Given the description of an element on the screen output the (x, y) to click on. 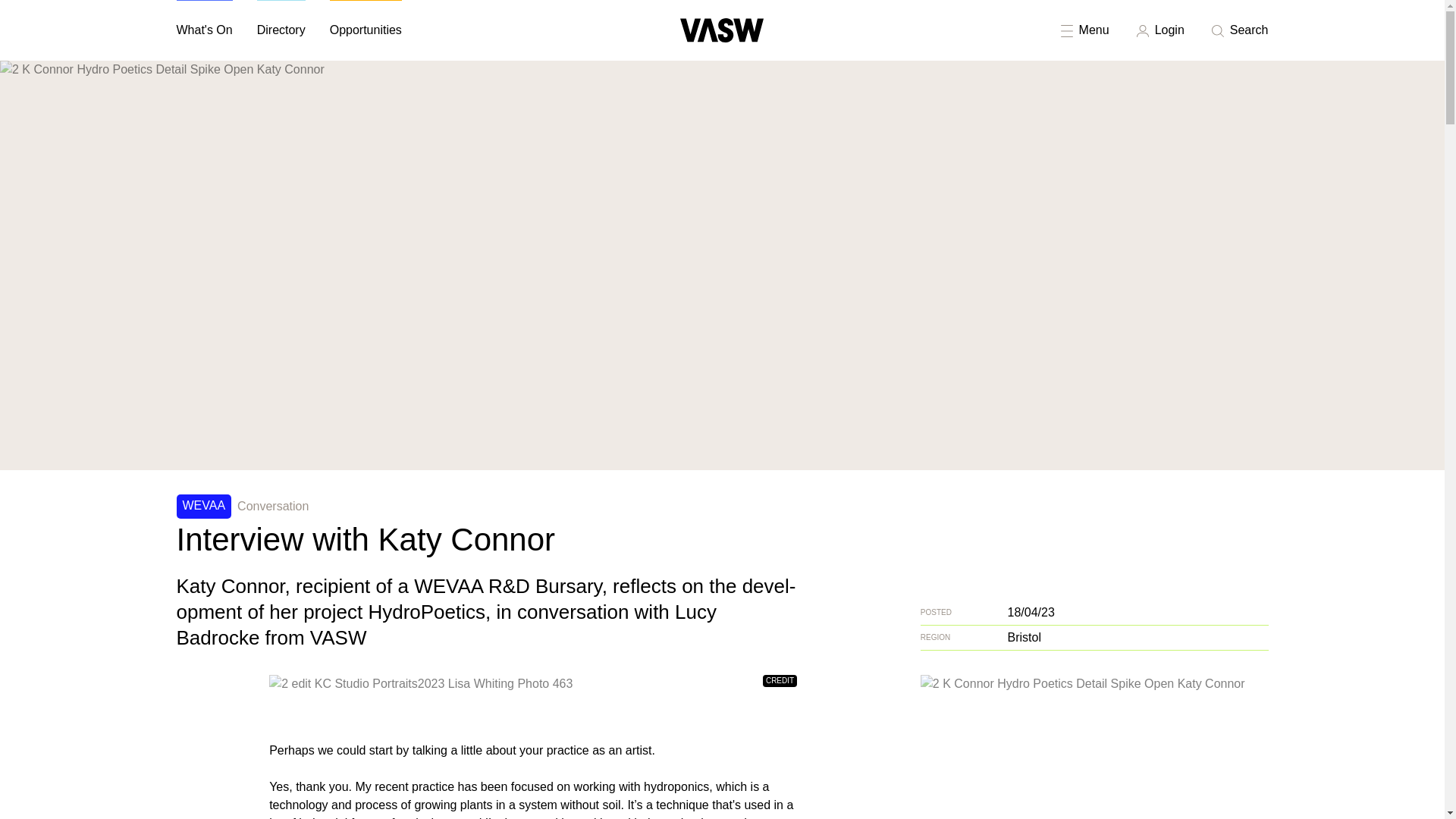
Research (1409, 21)
Multidisciplinary (1322, 21)
WEVAA (203, 506)
Opportunities (365, 30)
Search (1238, 30)
What's On (203, 30)
